Given the description of an element on the screen output the (x, y) to click on. 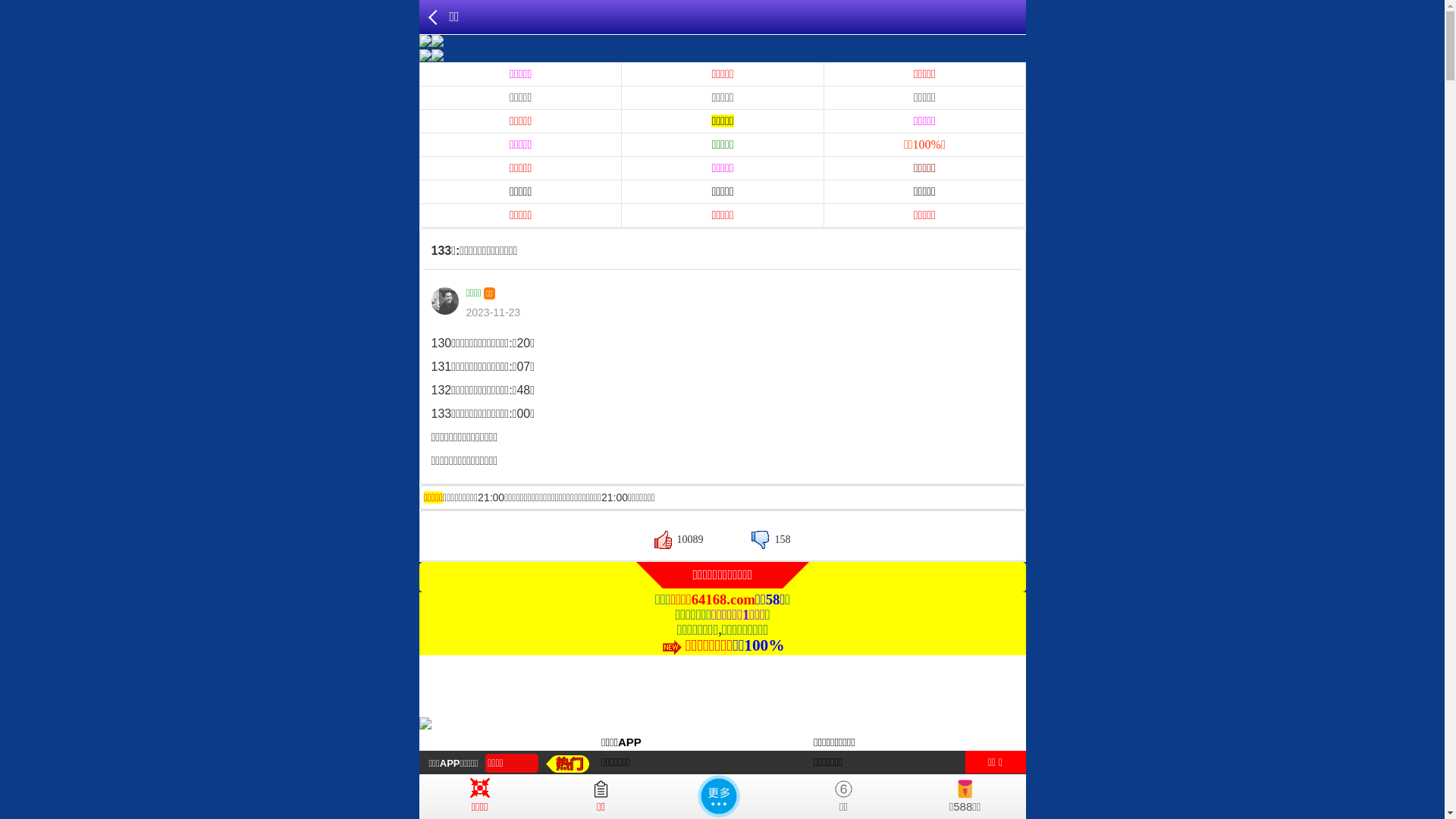
10089 Element type: text (678, 539)
158 Element type: text (770, 539)
